Given the description of an element on the screen output the (x, y) to click on. 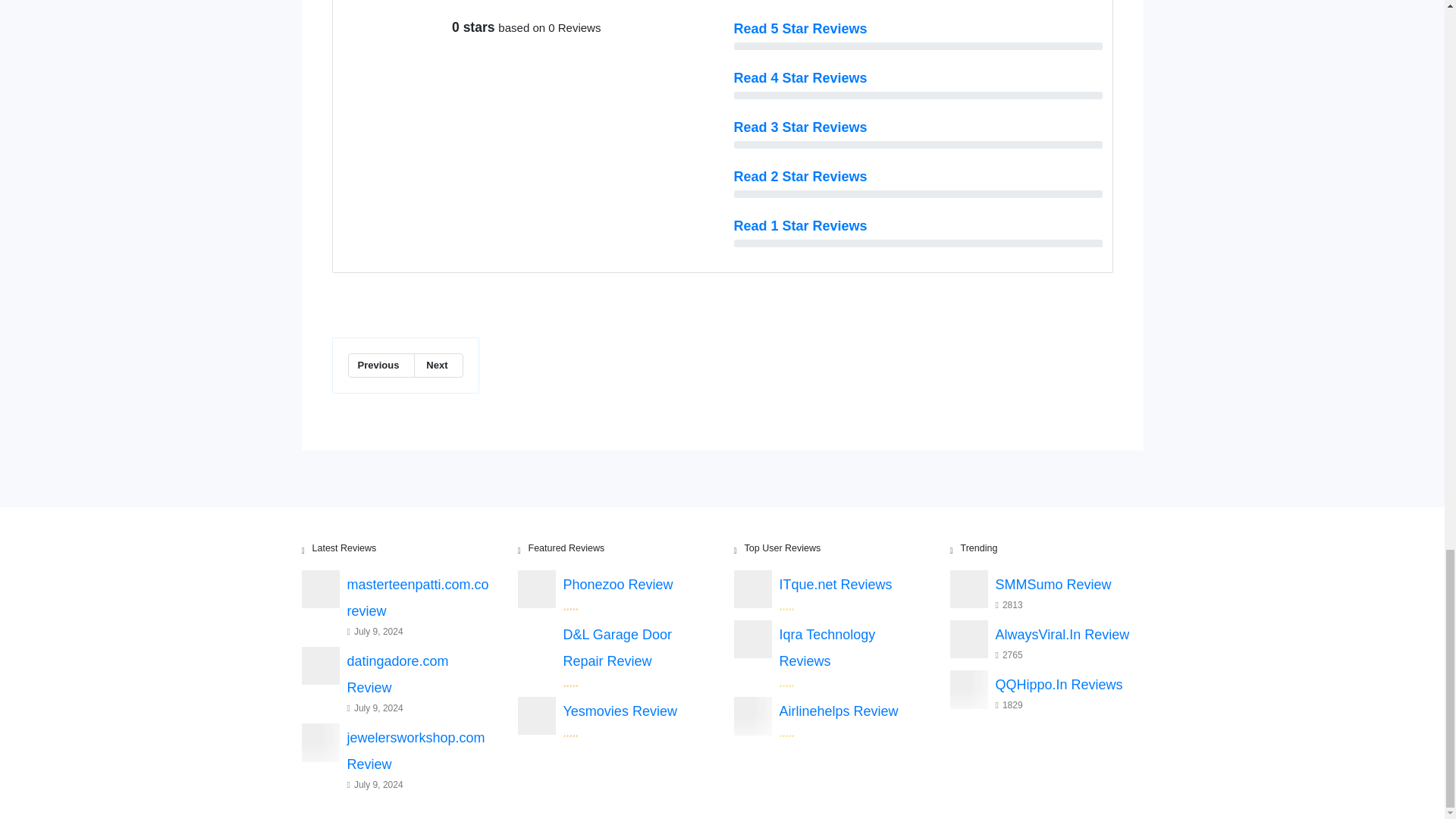
Read 4 Star Reviews (800, 77)
Read 3 Star Reviews (800, 127)
Read 5 Star Reviews (800, 28)
